Given the description of an element on the screen output the (x, y) to click on. 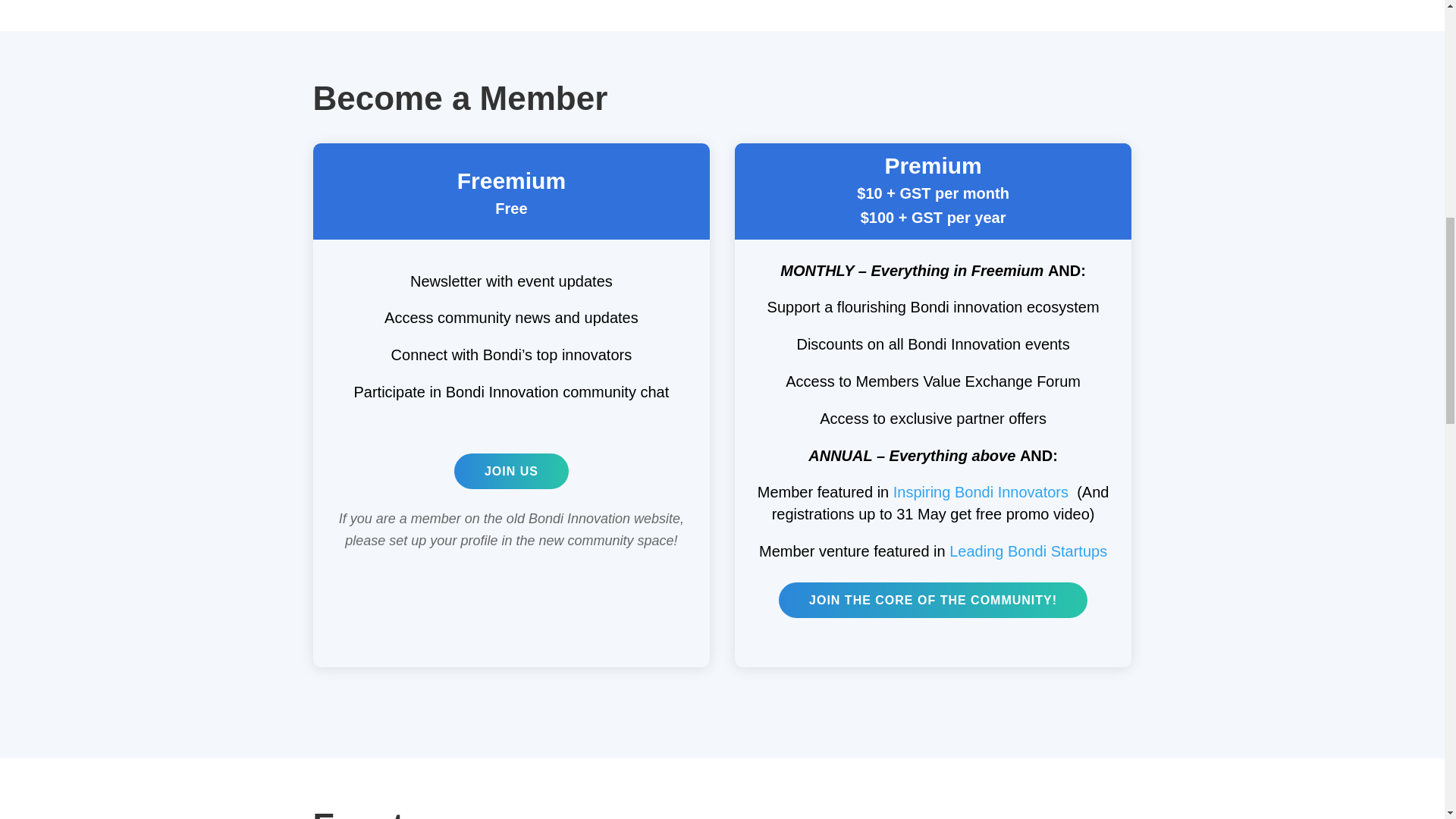
JOIN US (511, 470)
JOIN THE CORE OF THE COMMUNITY! (932, 600)
Leading Bondi Startups (1027, 550)
Inspiring Bondi Innovators (980, 492)
